Given the description of an element on the screen output the (x, y) to click on. 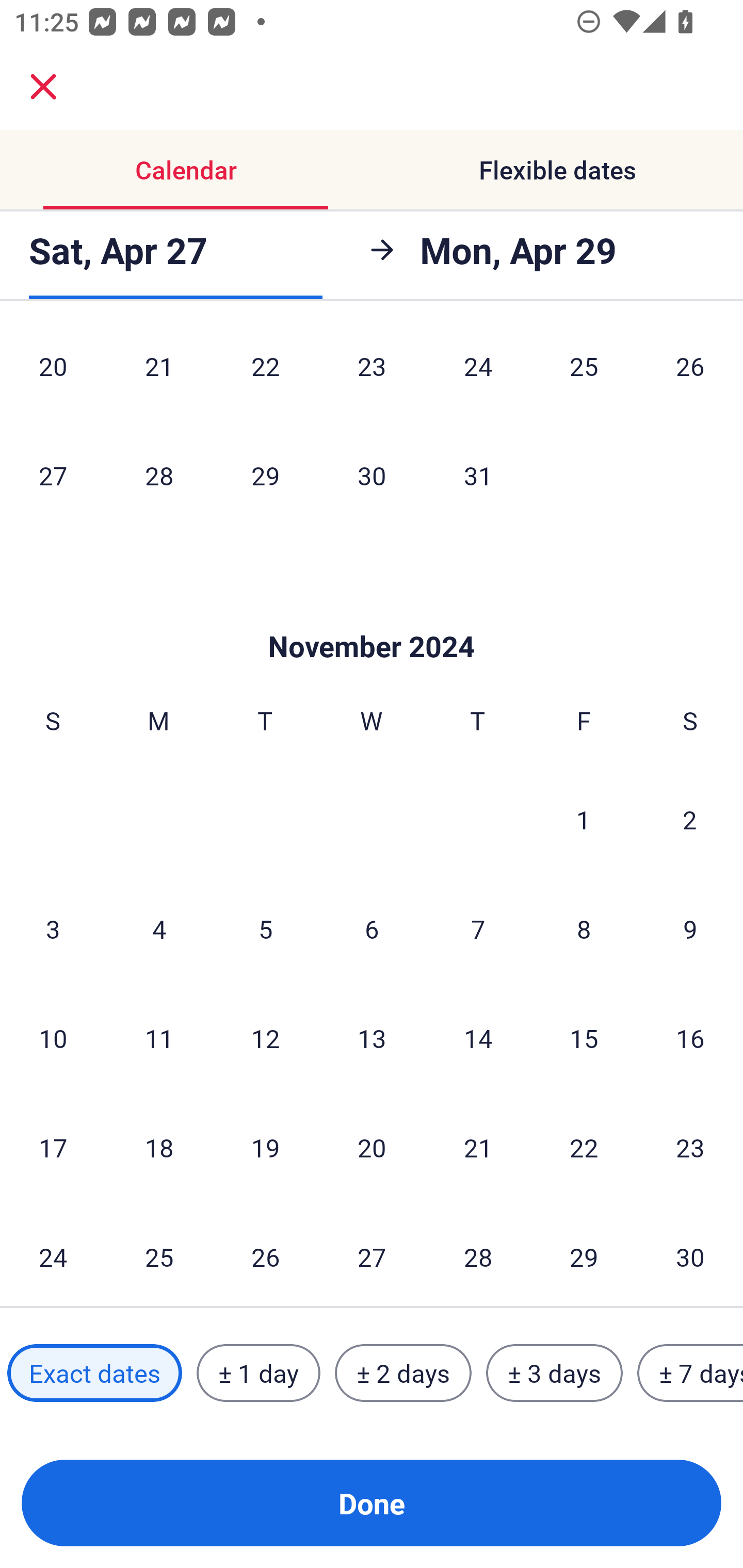
close. (43, 86)
Flexible dates (557, 170)
20 Sunday, October 20, 2024 (53, 374)
21 Monday, October 21, 2024 (159, 374)
22 Tuesday, October 22, 2024 (265, 374)
23 Wednesday, October 23, 2024 (371, 374)
24 Thursday, October 24, 2024 (477, 374)
25 Friday, October 25, 2024 (584, 374)
26 Saturday, October 26, 2024 (690, 374)
27 Sunday, October 27, 2024 (53, 474)
28 Monday, October 28, 2024 (159, 474)
29 Tuesday, October 29, 2024 (265, 474)
30 Wednesday, October 30, 2024 (371, 474)
31 Thursday, October 31, 2024 (477, 474)
Skip to Done (371, 615)
1 Friday, November 1, 2024 (583, 818)
2 Saturday, November 2, 2024 (689, 818)
3 Sunday, November 3, 2024 (53, 928)
4 Monday, November 4, 2024 (159, 928)
5 Tuesday, November 5, 2024 (265, 928)
